Given the description of an element on the screen output the (x, y) to click on. 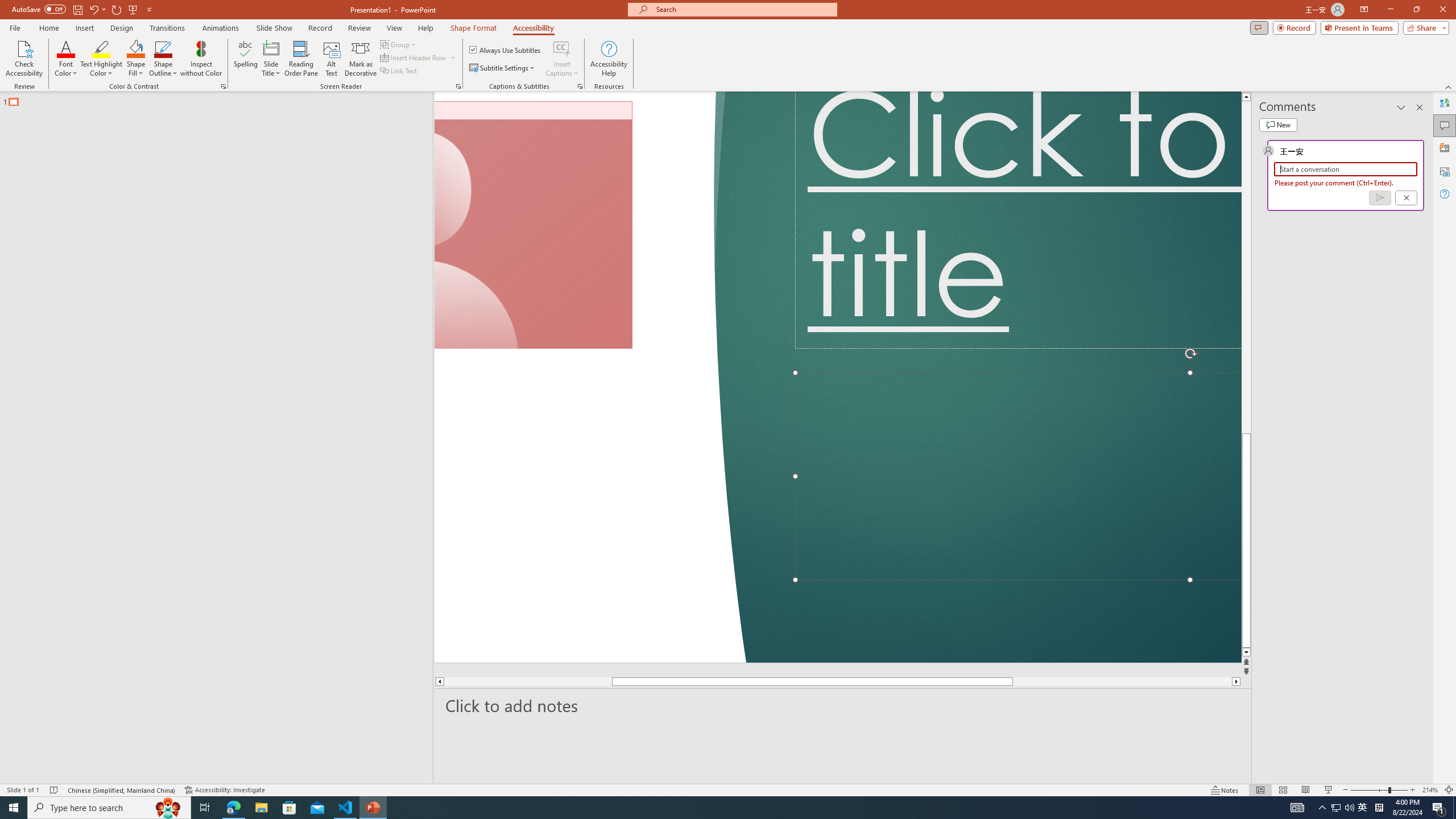
Font (132, 77)
Cut (63, 72)
Zoom Out (1334, 773)
Copy (63, 91)
AutoSave (80, 18)
Class: Image (1277, 800)
Zoom (1363, 773)
Office Clipboard... (73, 128)
Increase Indent (537, 77)
Select (1080, 112)
Font Size (211, 77)
